Given the description of an element on the screen output the (x, y) to click on. 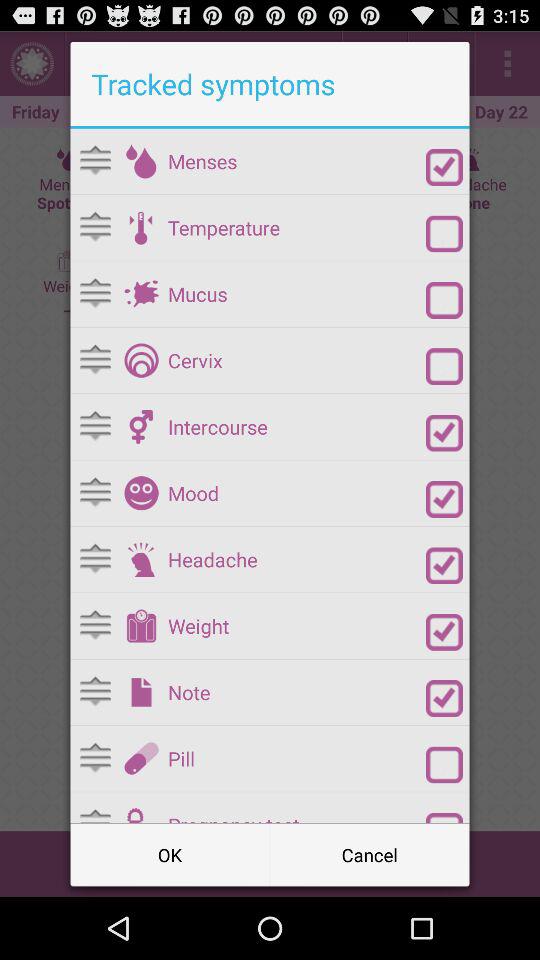
deselect the headache option (444, 565)
